Given the description of an element on the screen output the (x, y) to click on. 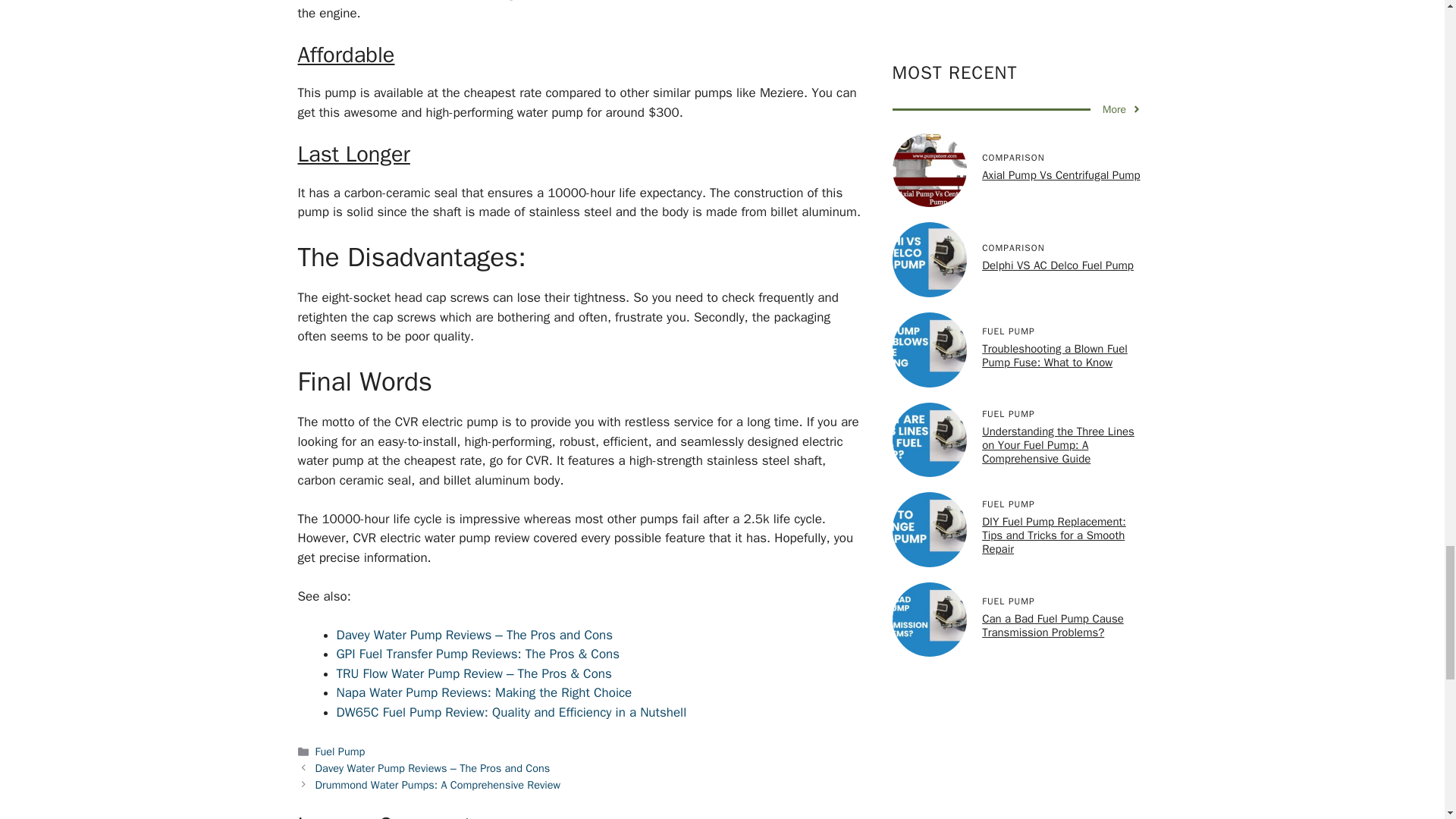
Drummond Water Pumps: A Comprehensive Review (437, 784)
Napa Water Pump Reviews: Making the Right Choice (483, 692)
DW65C Fuel Pump Review: Quality and Efficiency in a Nutshell (511, 712)
Fuel Pump (340, 751)
